Given the description of an element on the screen output the (x, y) to click on. 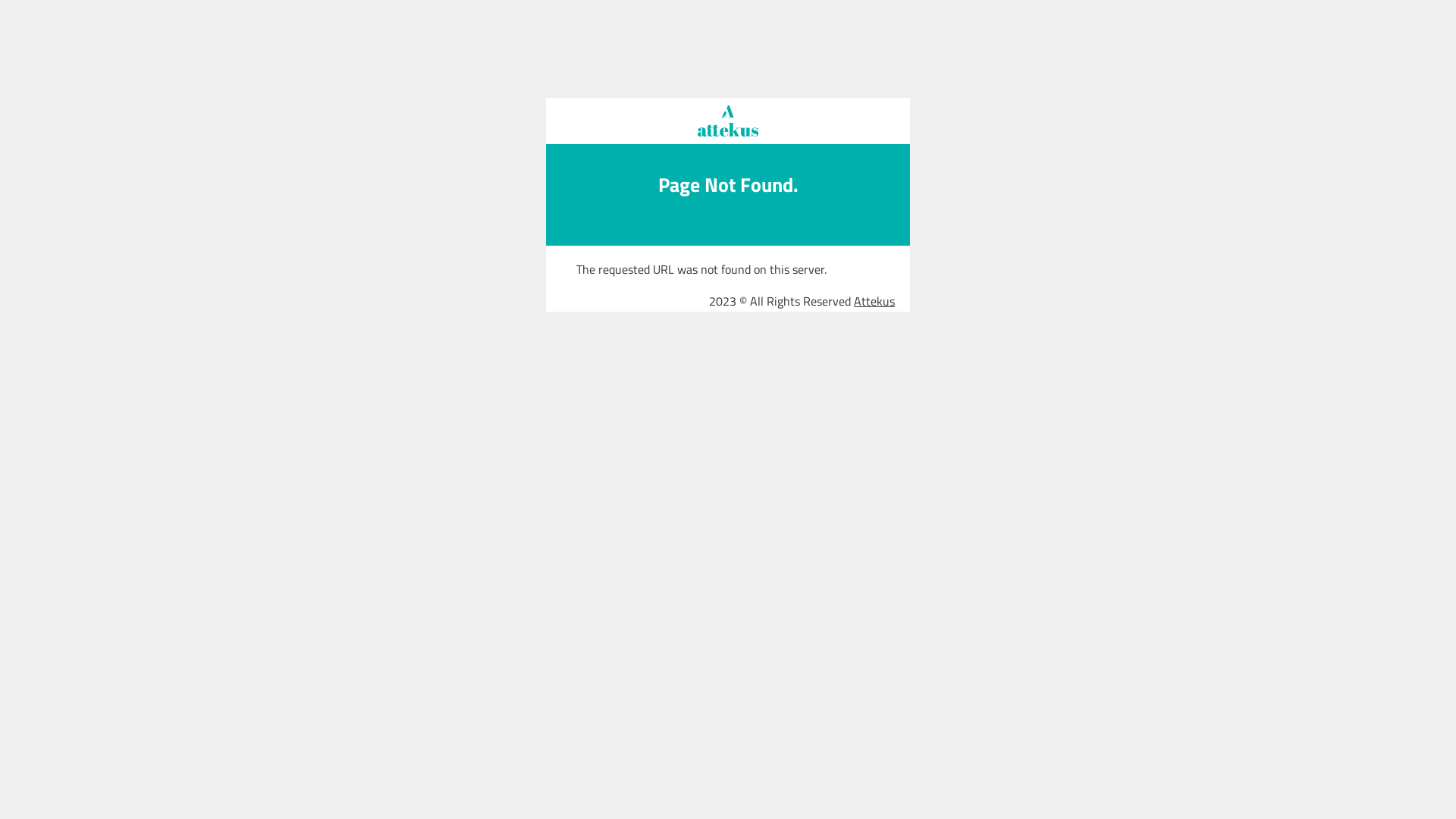
Attekus Element type: text (873, 300)
